Given the description of an element on the screen output the (x, y) to click on. 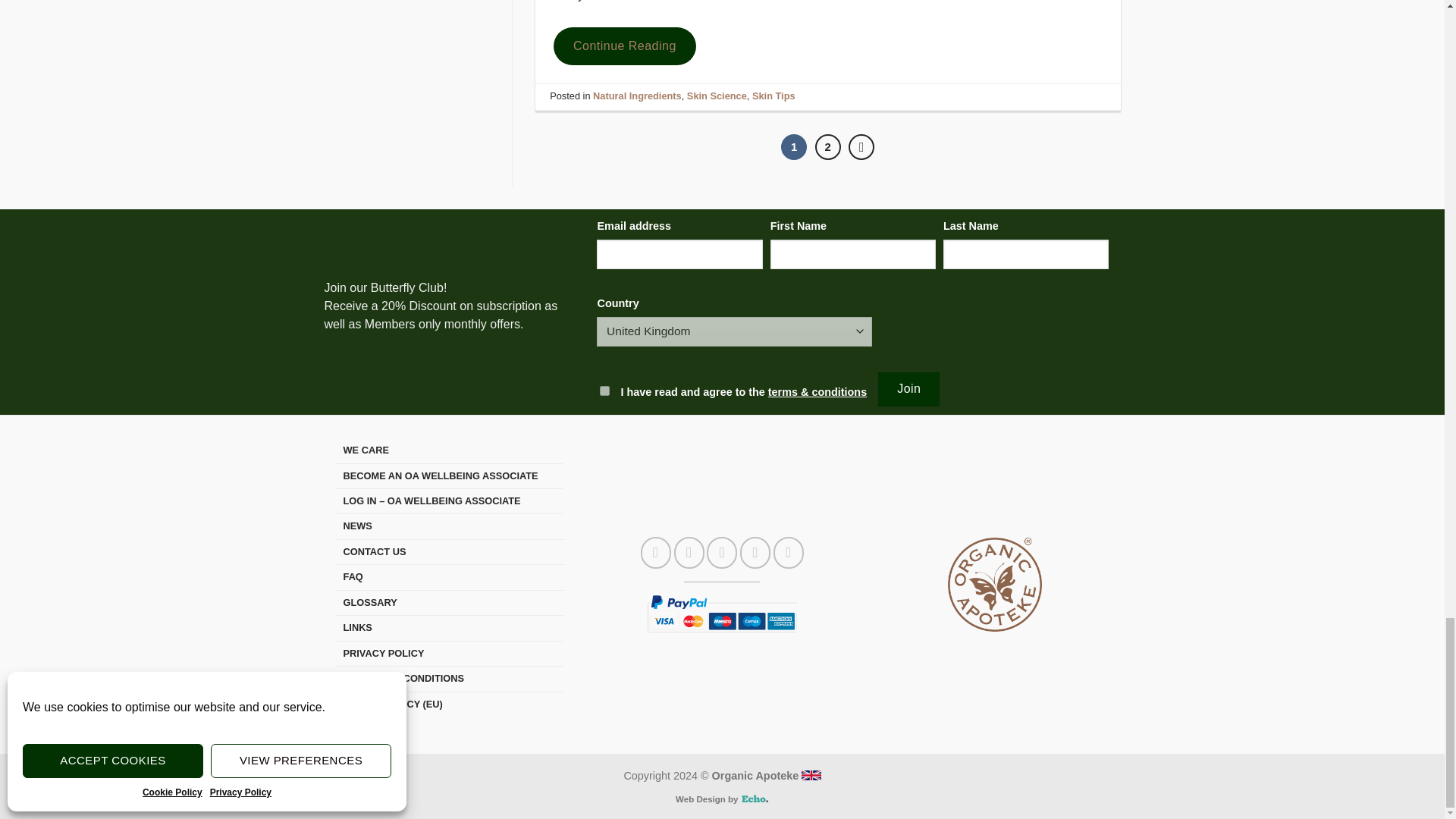
Join (908, 388)
1 (604, 390)
